Given the description of an element on the screen output the (x, y) to click on. 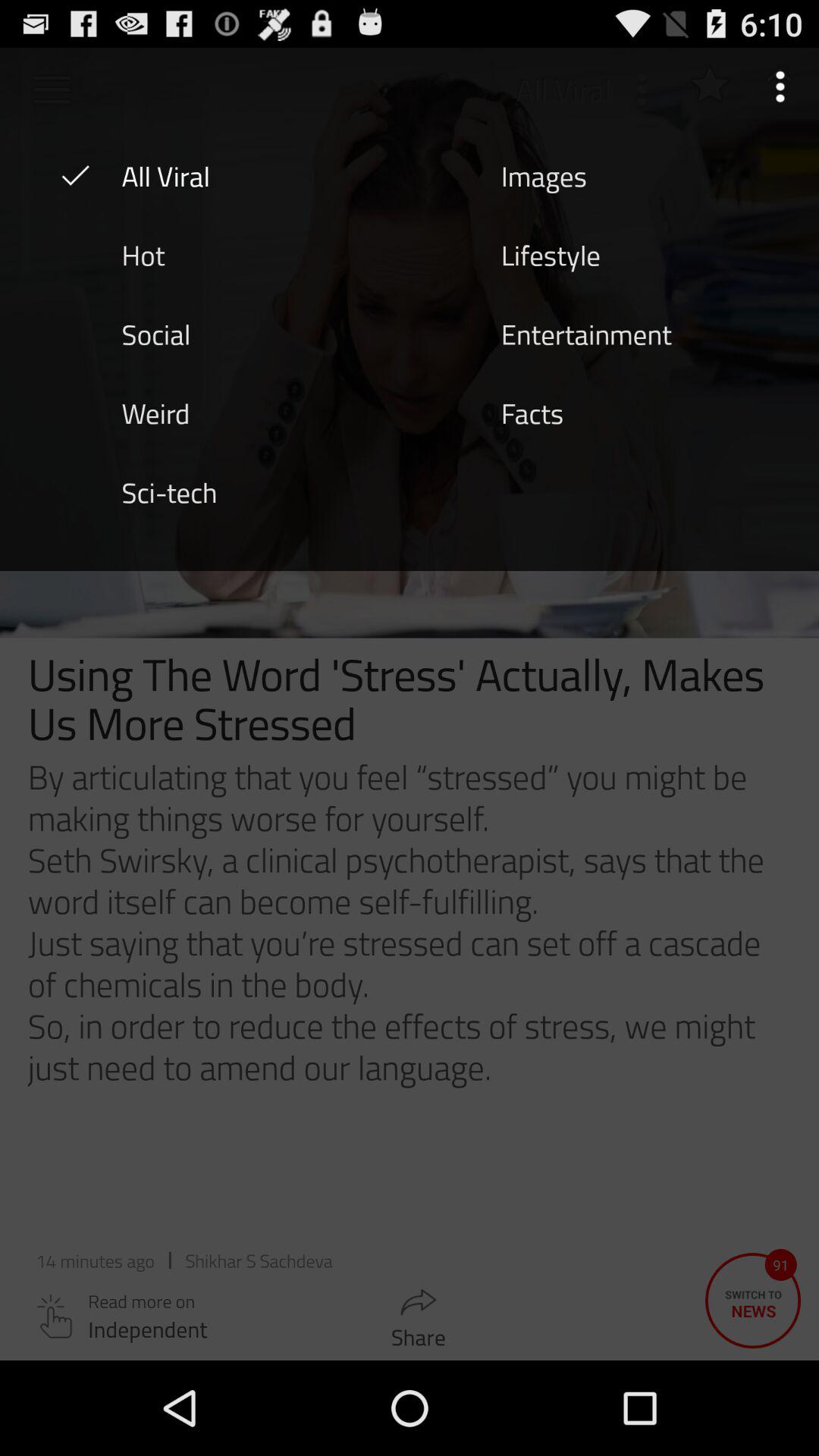
press the item above lifestyle (543, 174)
